Given the description of an element on the screen output the (x, y) to click on. 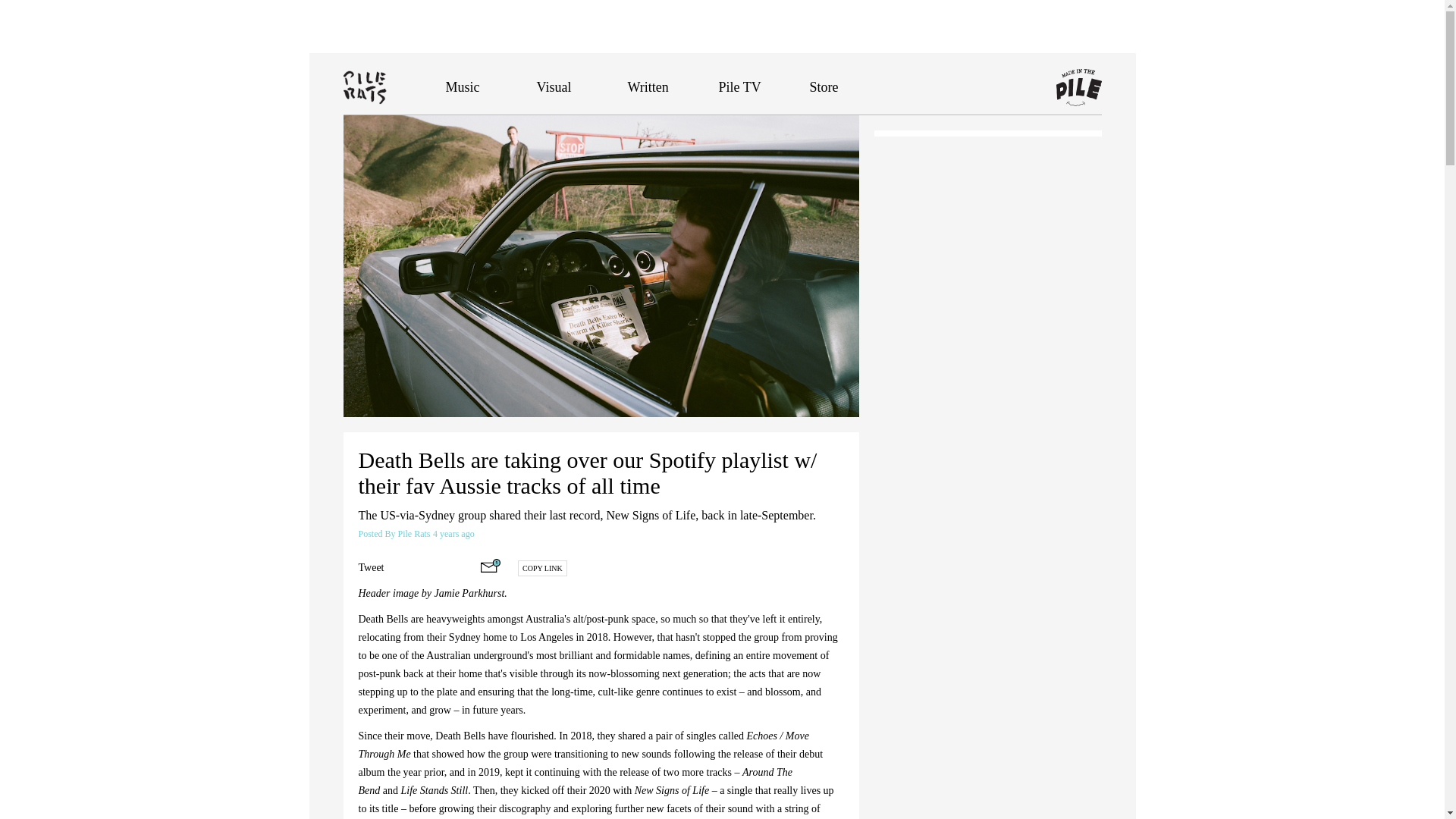
Share via email (490, 565)
Music (462, 86)
Home (393, 86)
Pile TV (740, 86)
Made In The Pile (1077, 87)
Written (647, 86)
Written (647, 86)
Made In The Pile (1077, 87)
Visual (554, 86)
Pile TV (740, 86)
Music (462, 86)
Visual (554, 86)
